Given the description of an element on the screen output the (x, y) to click on. 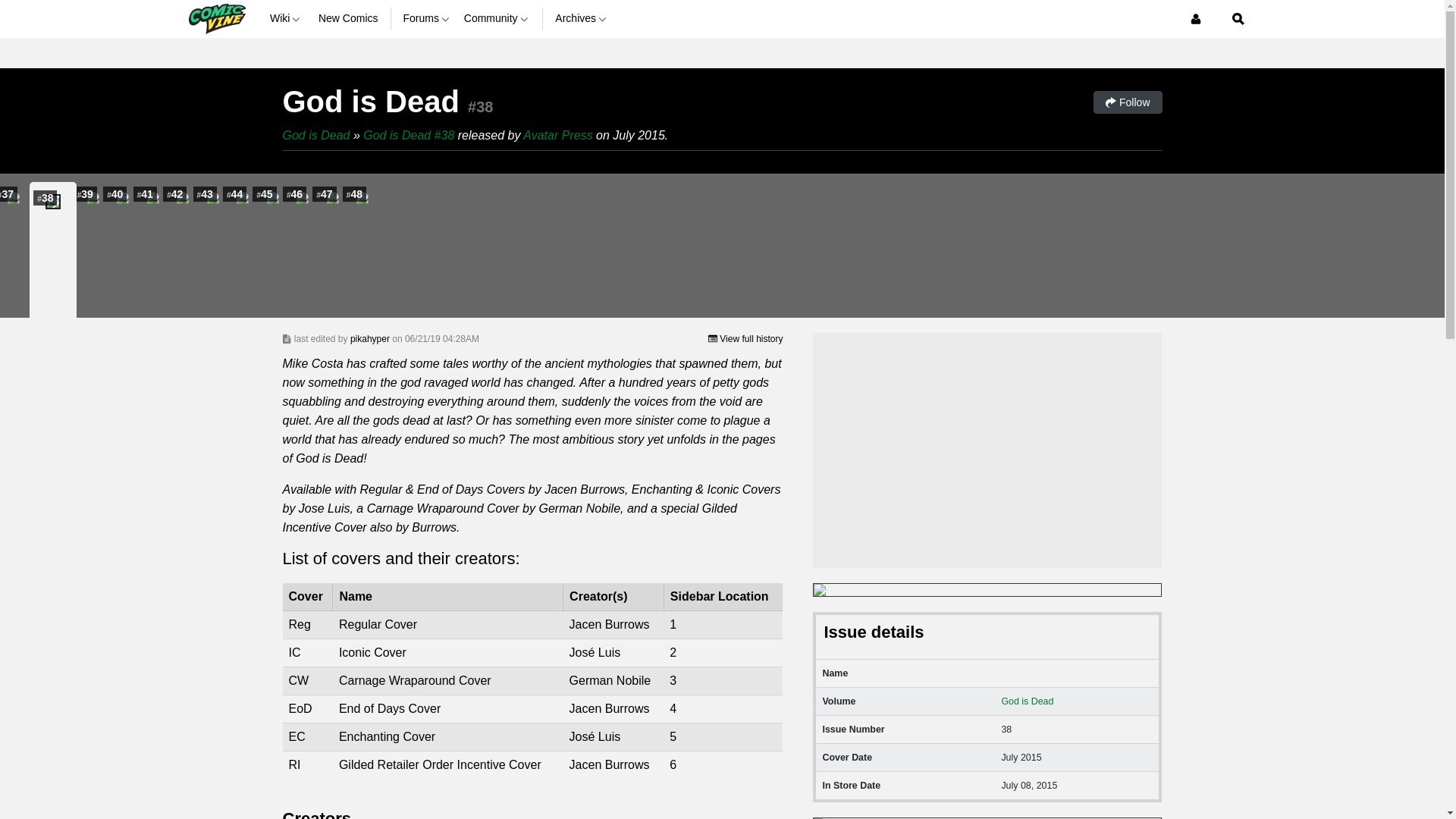
Forums (427, 18)
Wiki (287, 18)
Community (497, 18)
New Comics (348, 18)
Comic Vine (215, 18)
